Given the description of an element on the screen output the (x, y) to click on. 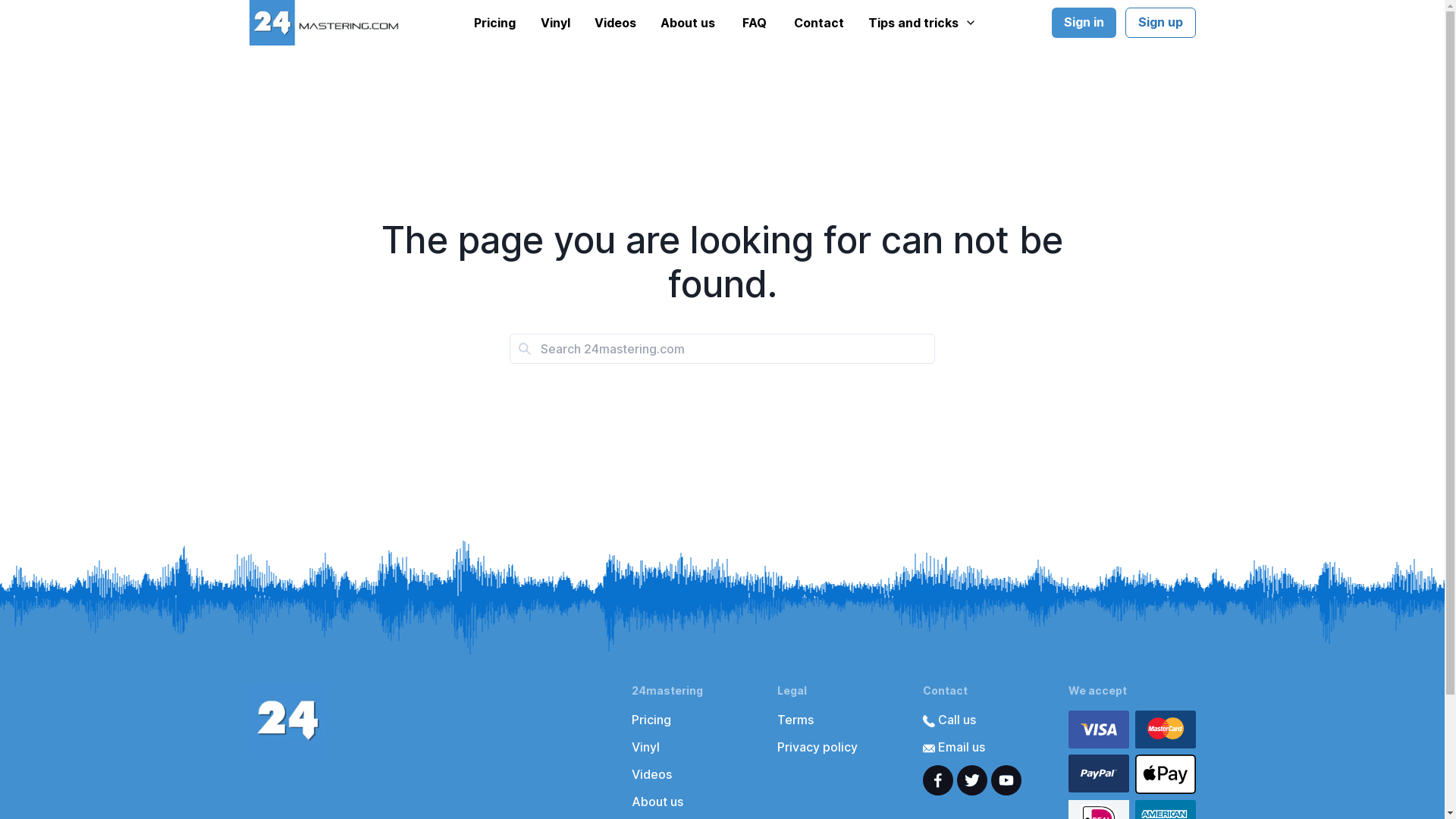
Terms Element type: text (794, 719)
Sign up Element type: text (1160, 22)
Contact Element type: text (818, 22)
About us Element type: text (687, 22)
About us Element type: text (656, 801)
Vinyl Element type: text (554, 22)
Videos Element type: text (615, 22)
Sign in Element type: text (1083, 22)
Pricing Element type: text (494, 22)
FAQ Element type: text (754, 22)
Privacy policy Element type: text (816, 746)
Call us Element type: text (948, 719)
Tips and tricks Element type: text (922, 22)
Vinyl Element type: text (644, 746)
Videos Element type: text (650, 773)
Pricing Element type: text (650, 719)
Email us Element type: text (953, 746)
